Given the description of an element on the screen output the (x, y) to click on. 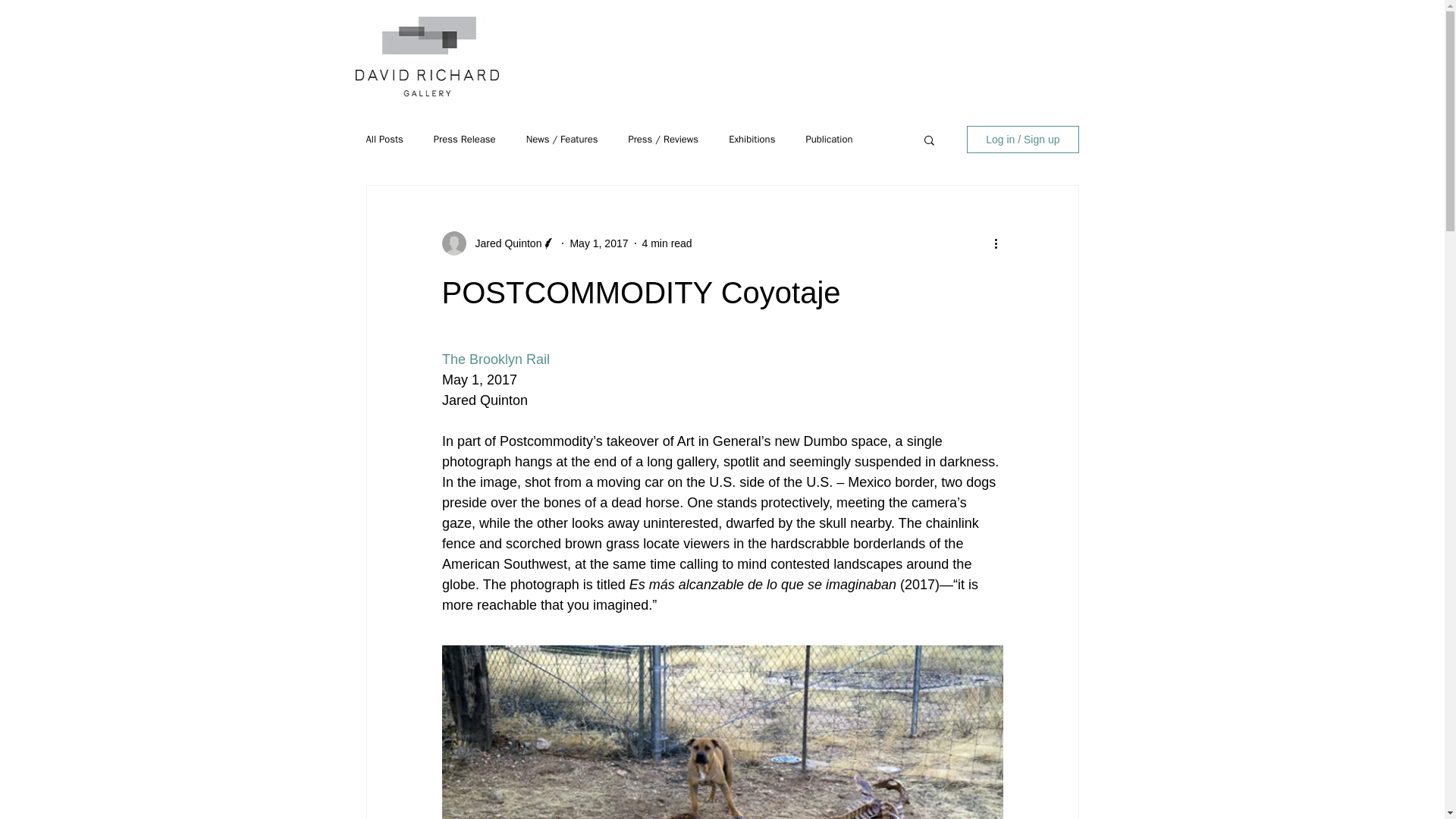
All Posts (384, 139)
The Brooklyn Rail (494, 359)
Publication (828, 139)
Jared Quinton (503, 242)
Exhibitions (751, 139)
Press Release (464, 139)
4 min read (667, 242)
May 1, 2017 (598, 242)
